Given the description of an element on the screen output the (x, y) to click on. 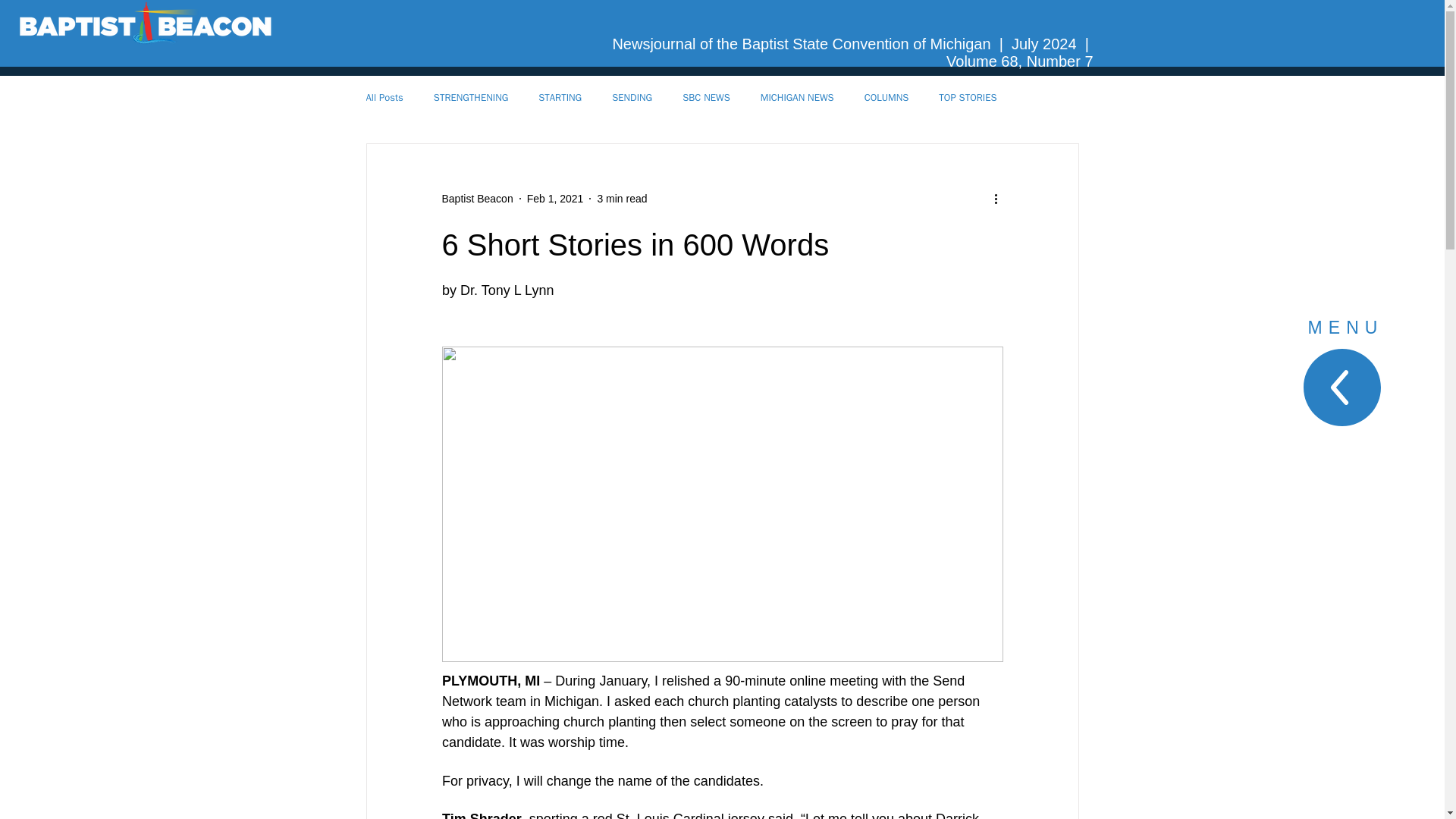
All Posts (384, 97)
3 min read (621, 198)
Baptist Beacon (476, 198)
MICHIGAN NEWS (797, 97)
STRENGTHENING (470, 97)
SBC NEWS (706, 97)
STARTING (559, 97)
Feb 1, 2021 (555, 198)
SENDING (631, 97)
COLUMNS (886, 97)
TOP STORIES (967, 97)
